Given the description of an element on the screen output the (x, y) to click on. 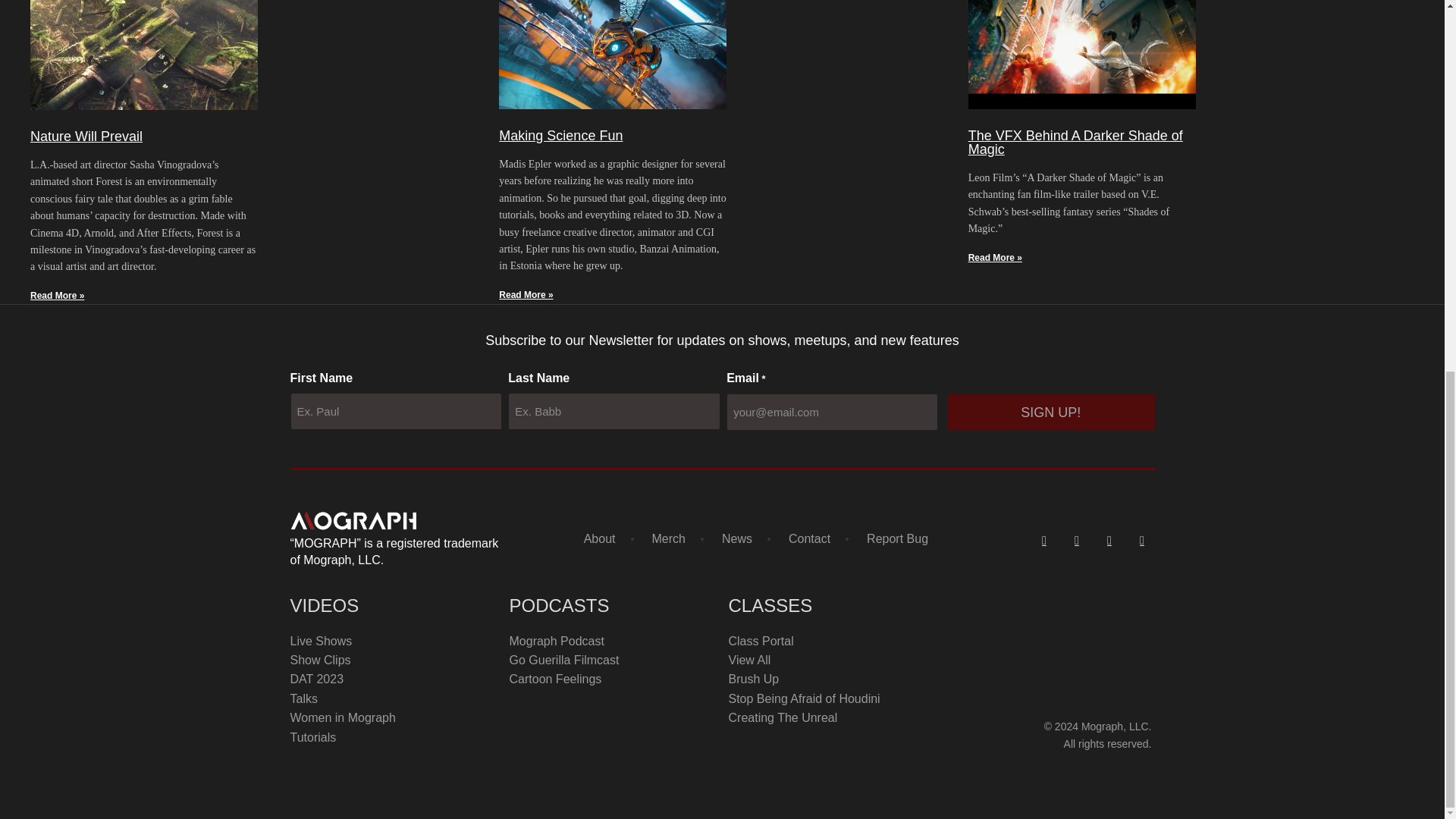
Nature Will Prevail (86, 136)
Sign Up! (1050, 411)
